Given the description of an element on the screen output the (x, y) to click on. 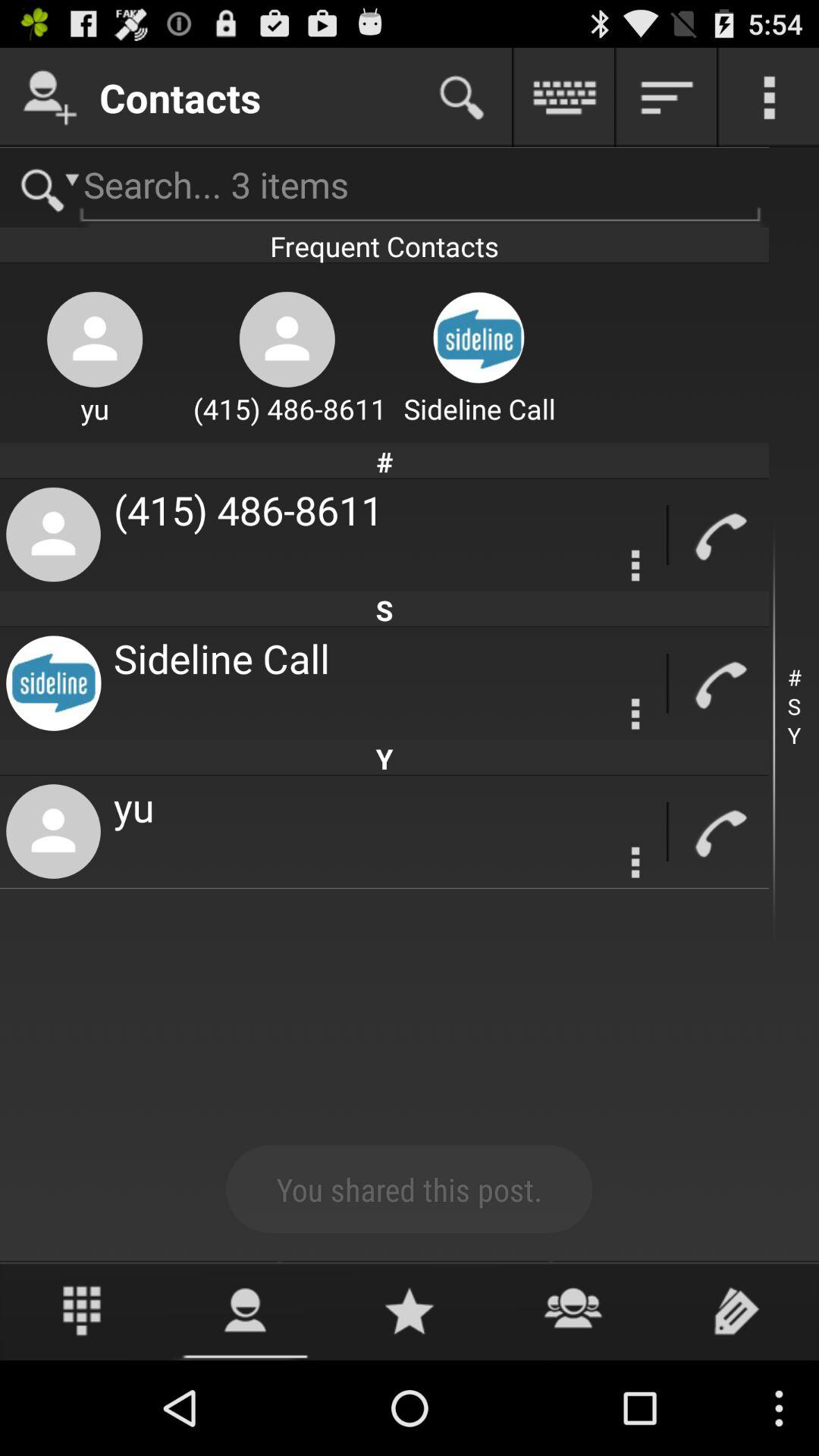
search page (384, 187)
